Given the description of an element on the screen output the (x, y) to click on. 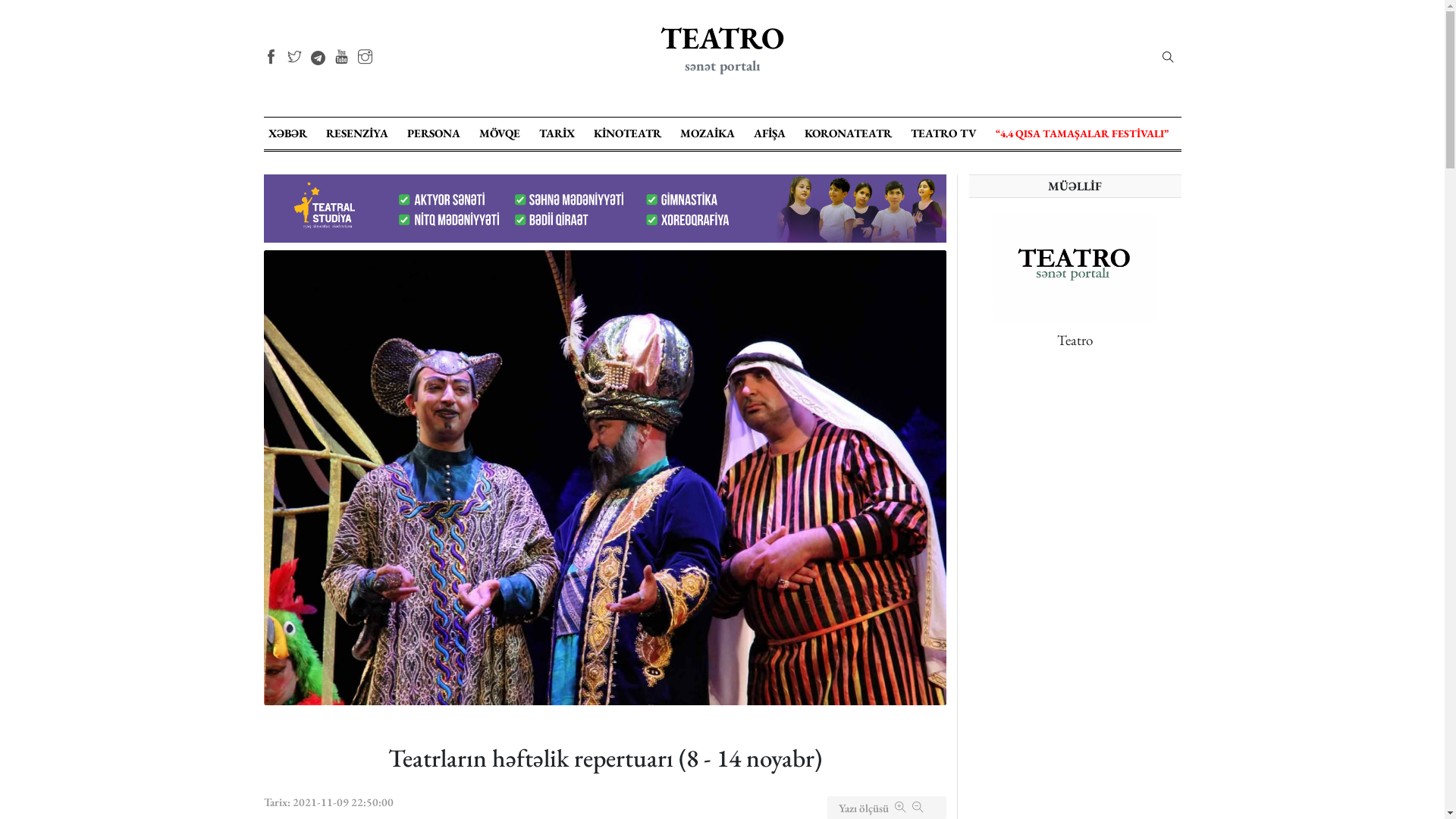
PERSONA Element type: text (433, 133)
KINOTEATR Element type: text (627, 133)
RESENZIYA Element type: text (357, 133)
Axtar Element type: text (986, 176)
KORONATEATR Element type: text (847, 133)
TARIX Element type: text (556, 133)
MOZAIKA Element type: text (707, 133)
TEATRO Element type: text (722, 37)
TEATRO TV Element type: text (943, 133)
